Given the description of an element on the screen output the (x, y) to click on. 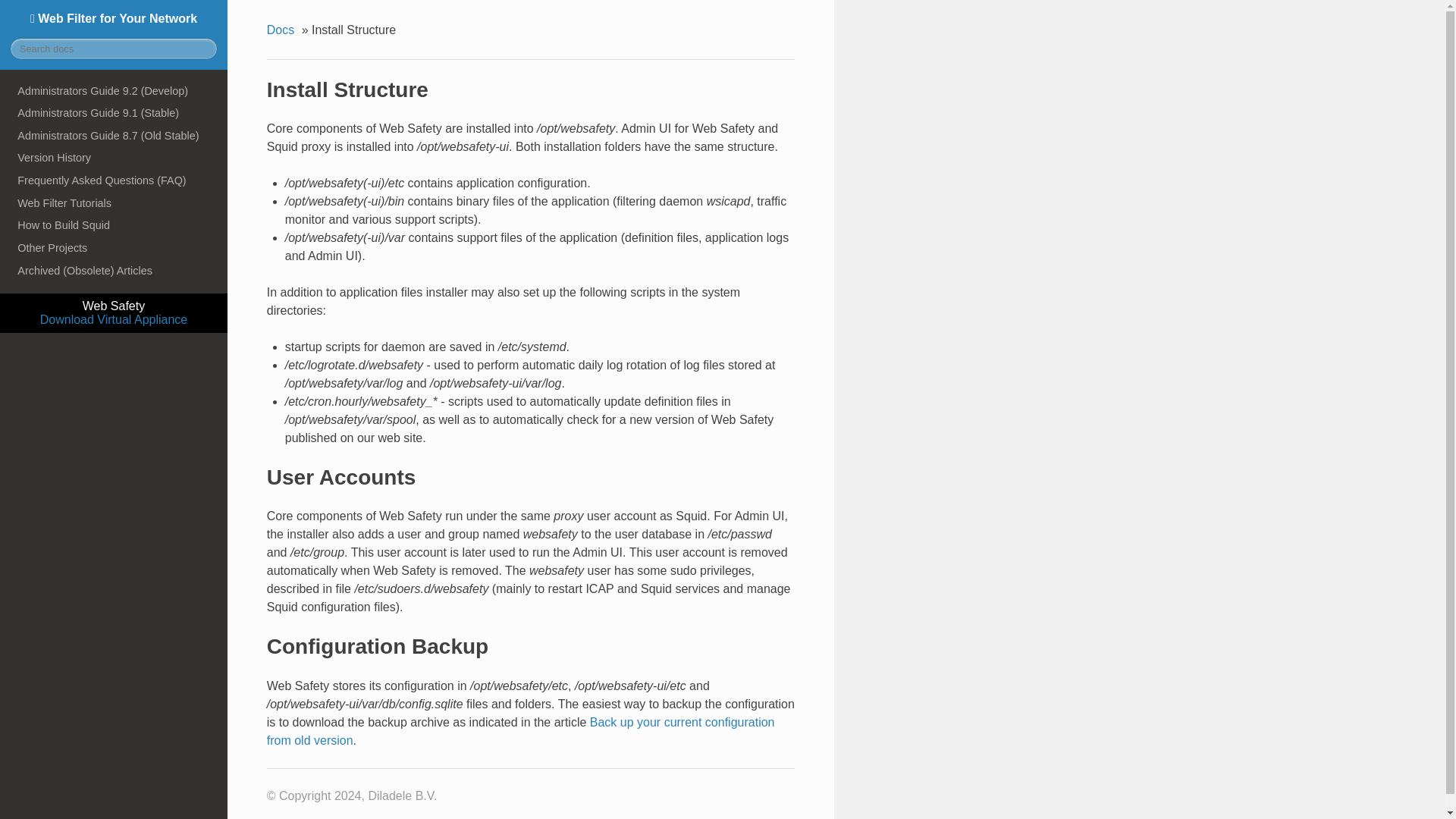
Docs (282, 29)
Back up your current configuration from old version (520, 730)
Web Filter for Your Network (114, 18)
Version History (113, 158)
Web Filter Tutorials (113, 202)
Other Projects (113, 247)
Download Virtual Appliance (113, 318)
How to Build Squid (113, 224)
